Given the description of an element on the screen output the (x, y) to click on. 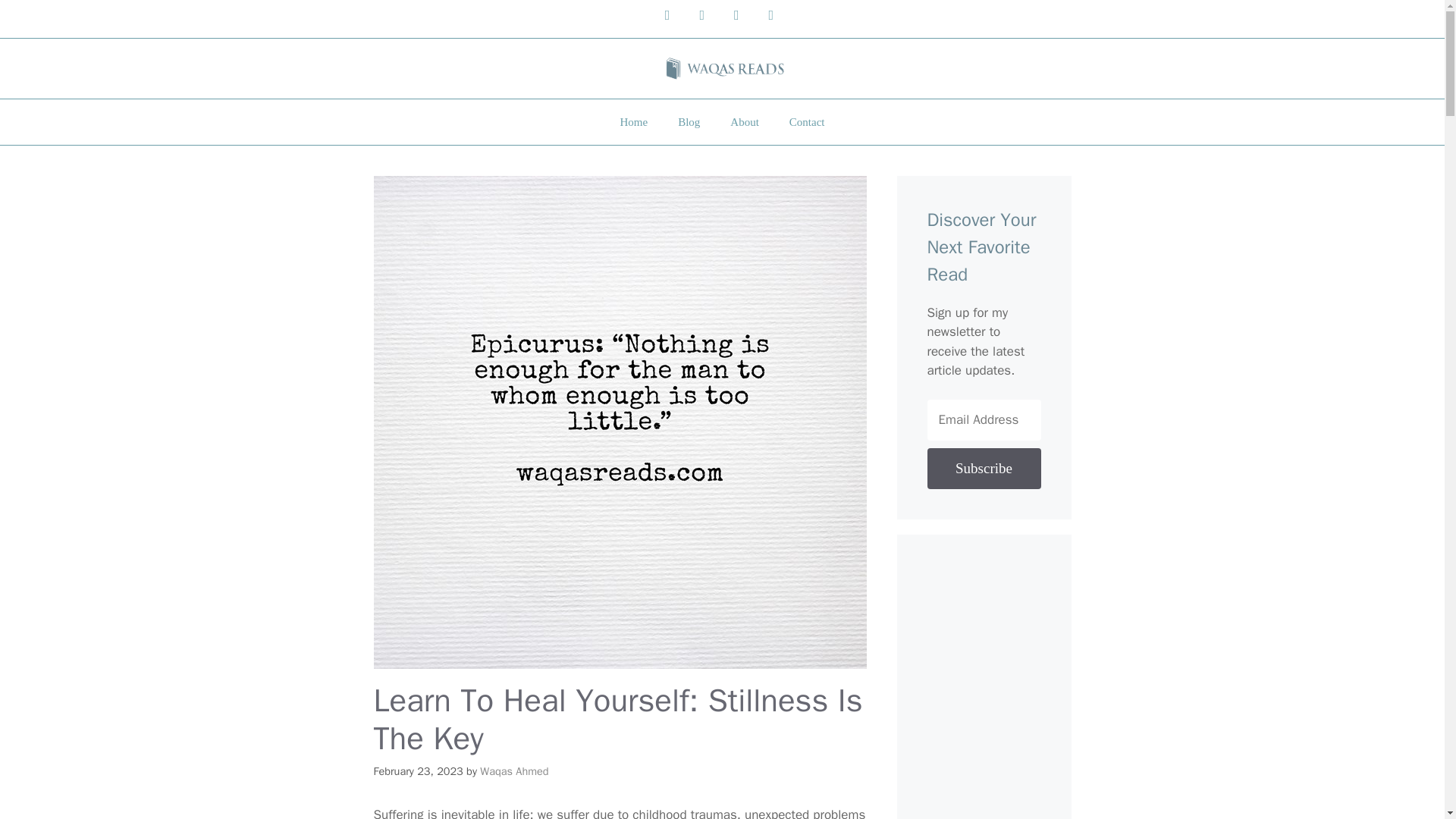
Blog (688, 121)
YouTube (666, 15)
Instagram (701, 15)
View all posts by Waqas Ahmed (514, 771)
Contact (807, 121)
Home (633, 121)
Subscribe (983, 467)
Pinterest (771, 15)
Twitter (736, 15)
Waqas Ahmed (514, 771)
